Given the description of an element on the screen output the (x, y) to click on. 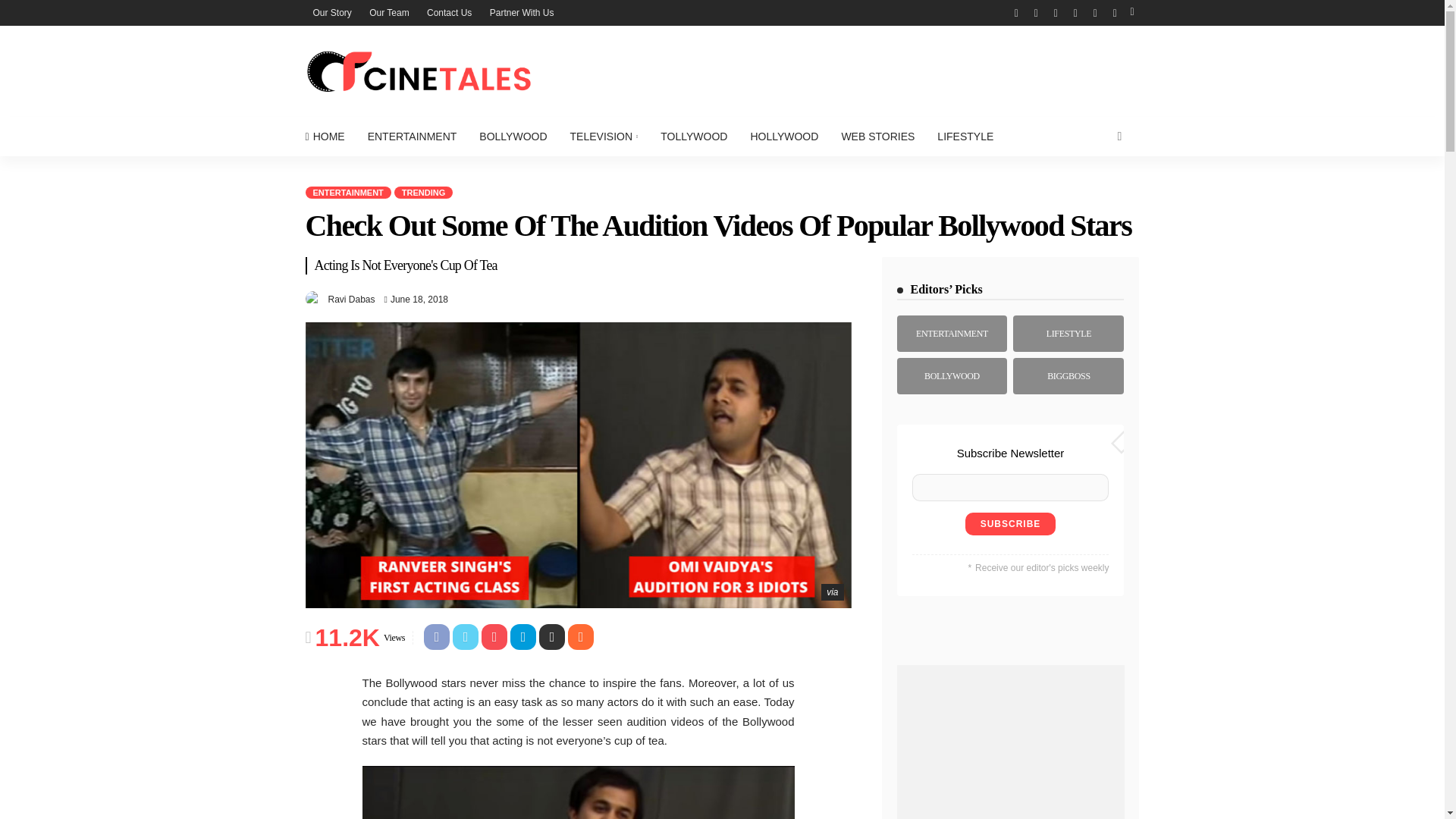
BOLLYWOOD (512, 136)
TELEVISION (604, 136)
TOLLYWOOD (693, 136)
Our Story (331, 12)
Subscribe (1011, 523)
ENTERTAINMENT (412, 136)
Contact Us (449, 12)
HOME (329, 136)
Our Team (388, 12)
Partner With Us (521, 12)
